Given the description of an element on the screen output the (x, y) to click on. 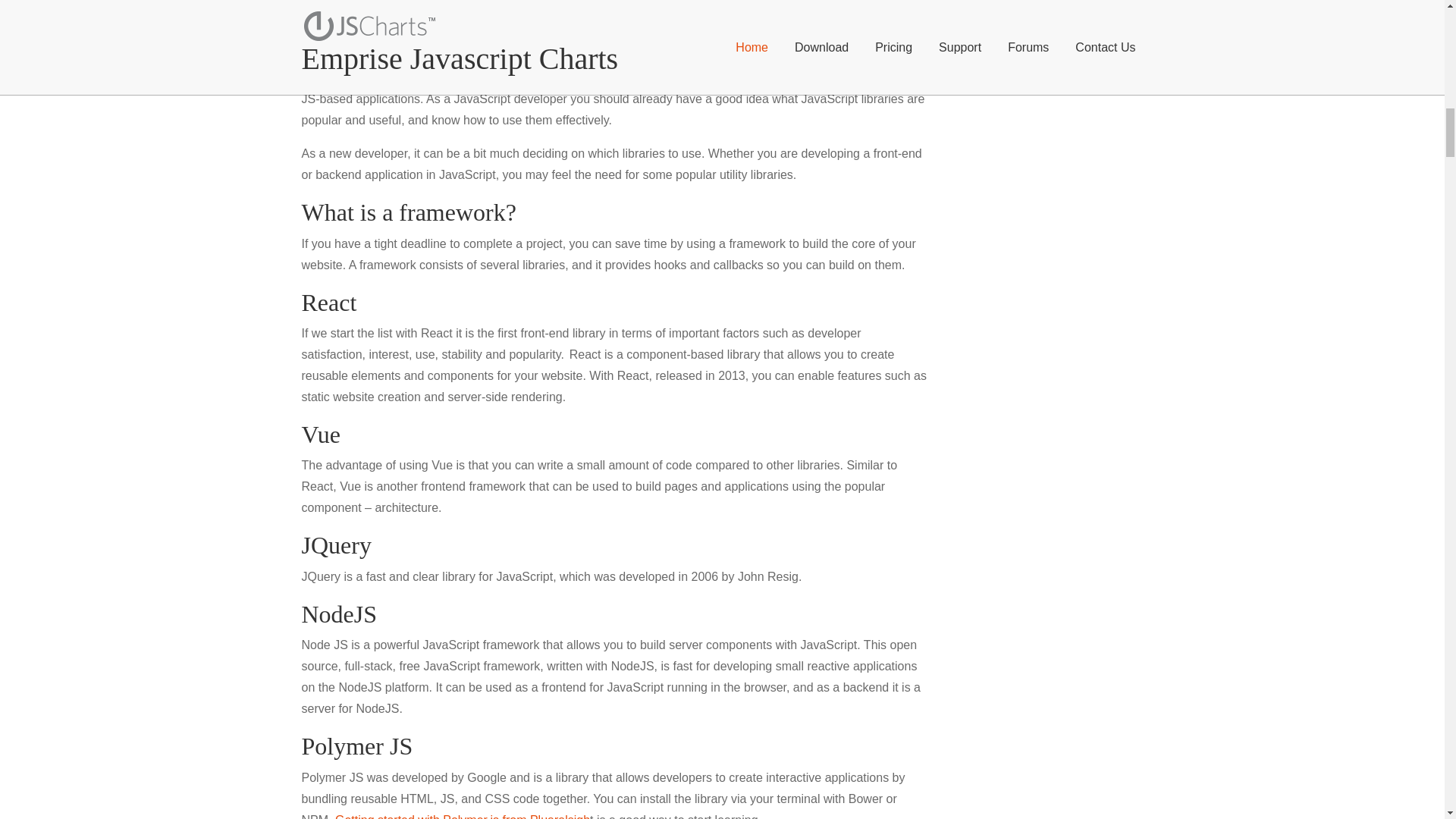
Getting started with Polymer.js from Pluaralsigh (461, 816)
